Given the description of an element on the screen output the (x, y) to click on. 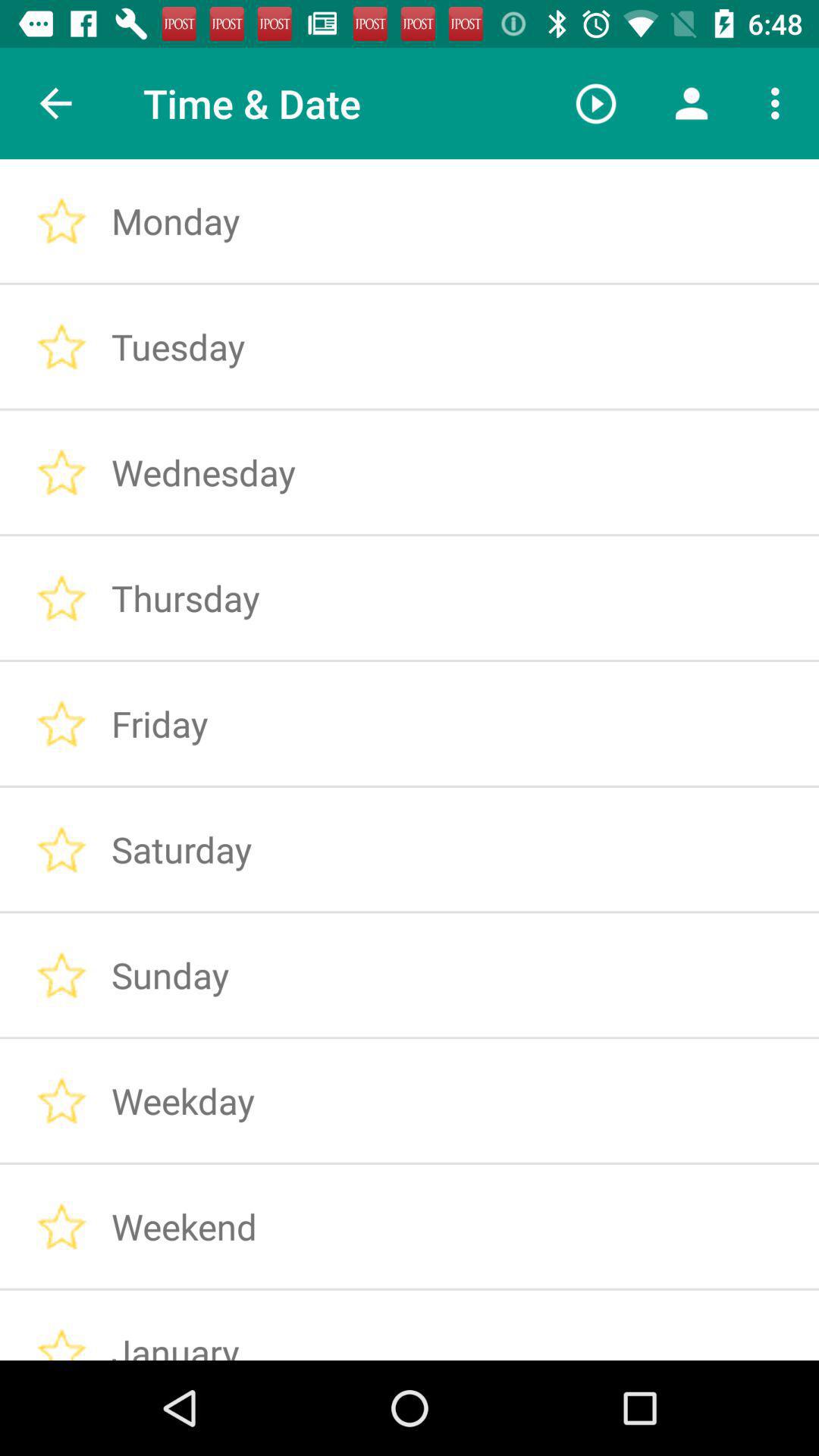
choose the item to the left of time & date item (55, 103)
